Given the description of an element on the screen output the (x, y) to click on. 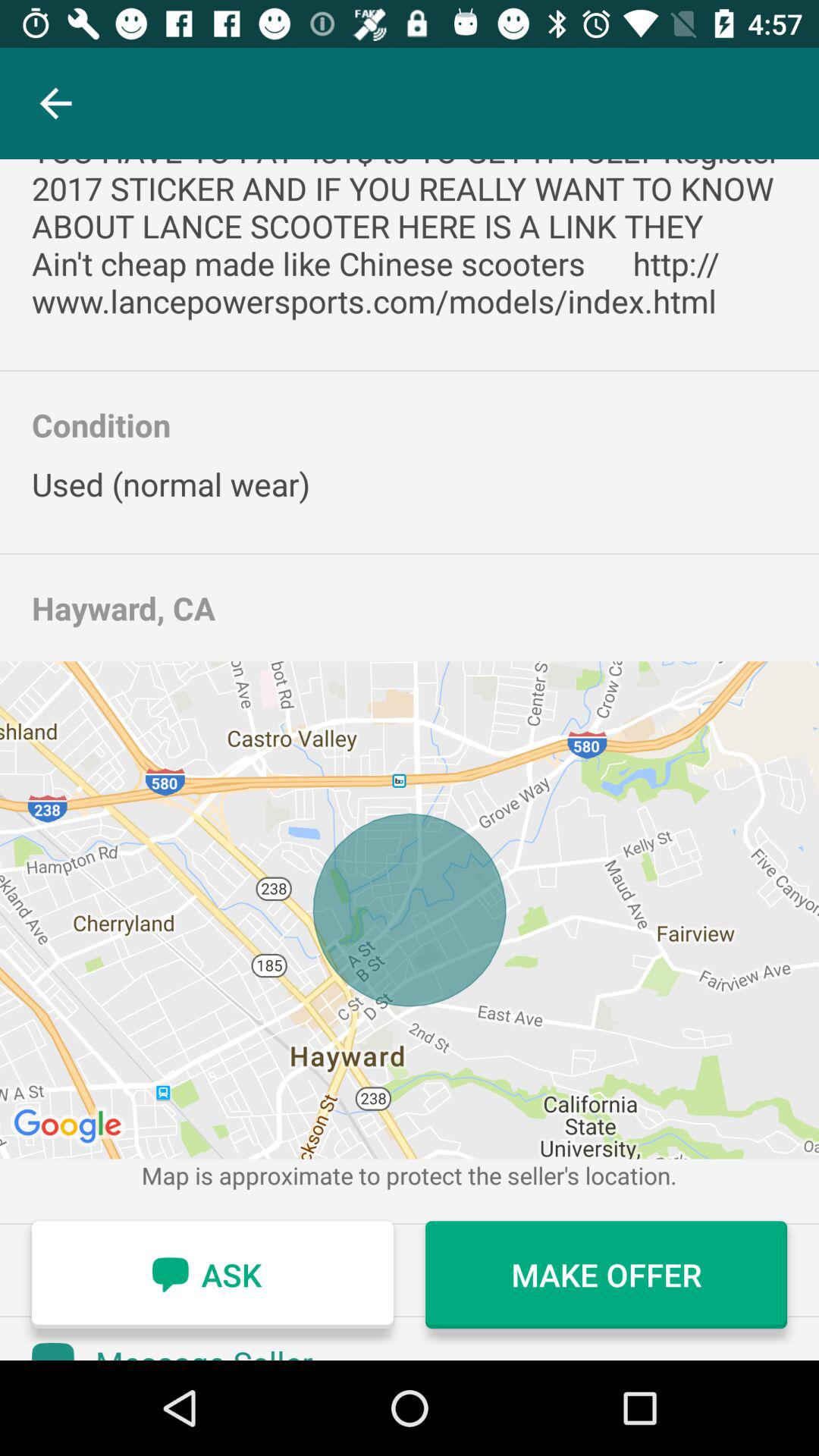
tap make offer item (606, 1274)
